Given the description of an element on the screen output the (x, y) to click on. 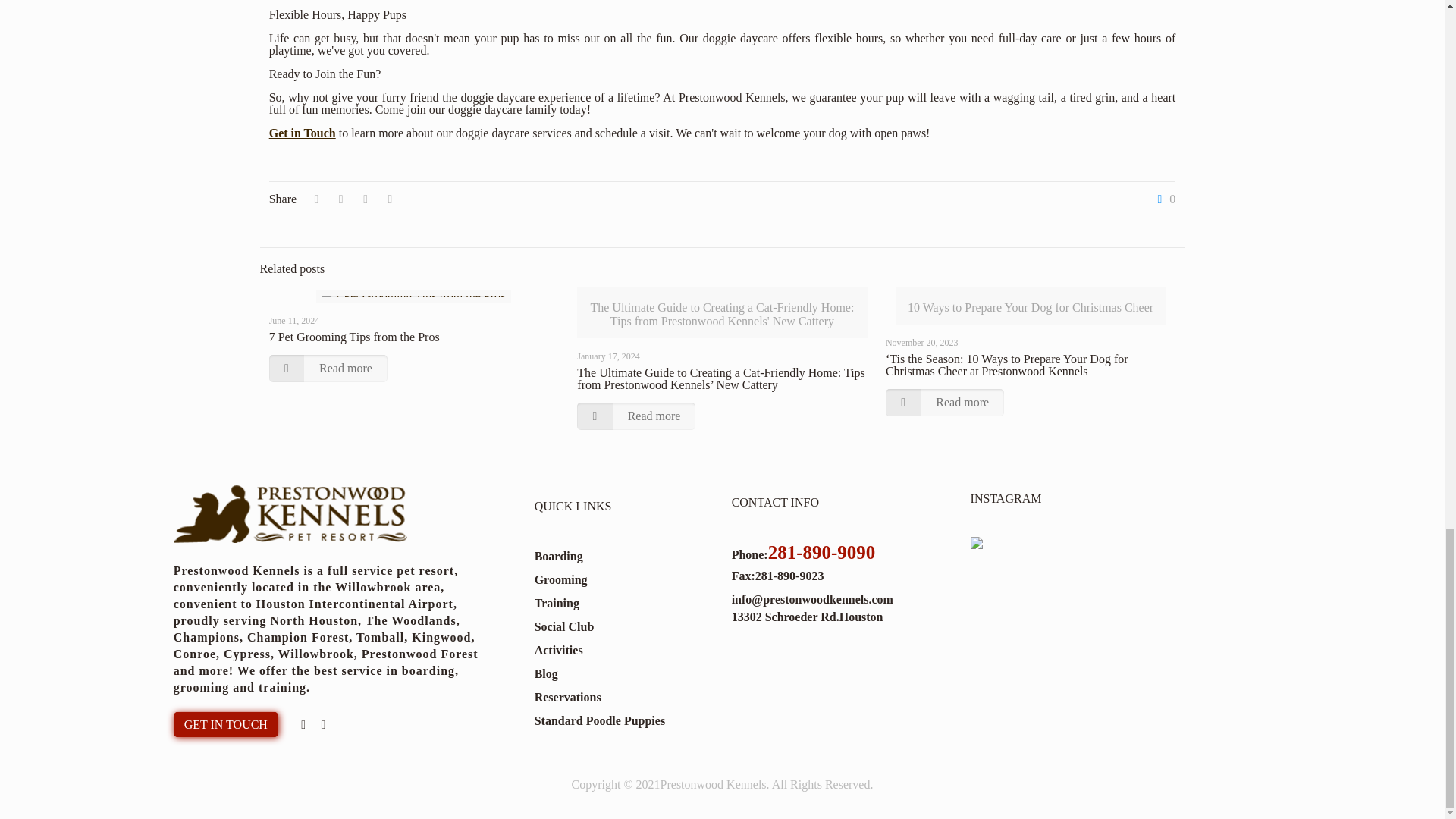
7 Pet Grooming Tips from the Pros (354, 336)
Read more (328, 368)
Get in Touch (302, 132)
0 (1162, 199)
